Given the description of an element on the screen output the (x, y) to click on. 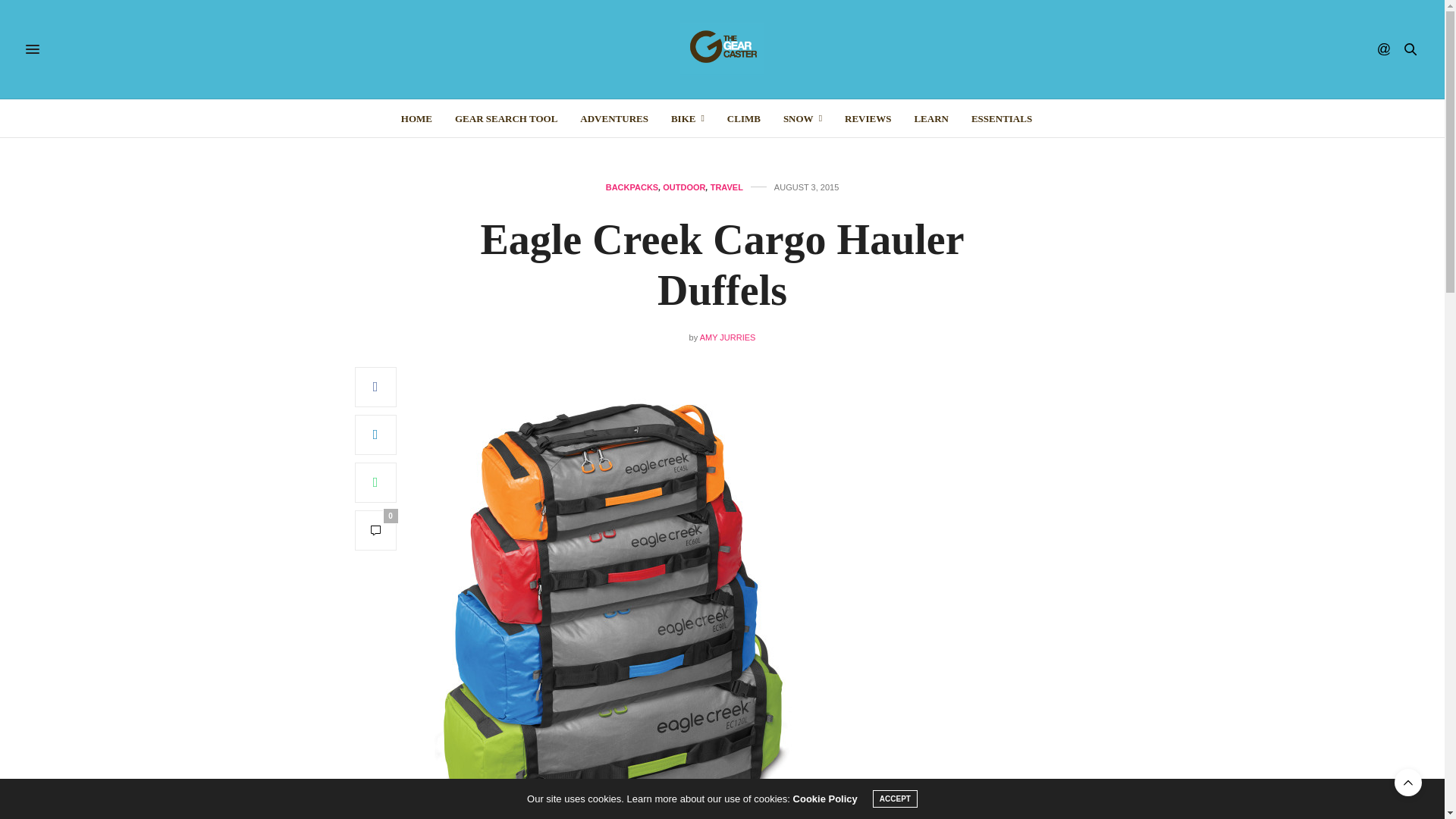
LEARN (931, 118)
REVIEWS (867, 118)
SNOW (802, 118)
Posts by Amy Jurries (727, 337)
GEAR SEARCH TOOL (505, 118)
ADVENTURES (613, 118)
Scroll To Top (1408, 782)
The GearCaster (721, 49)
